Given the description of an element on the screen output the (x, y) to click on. 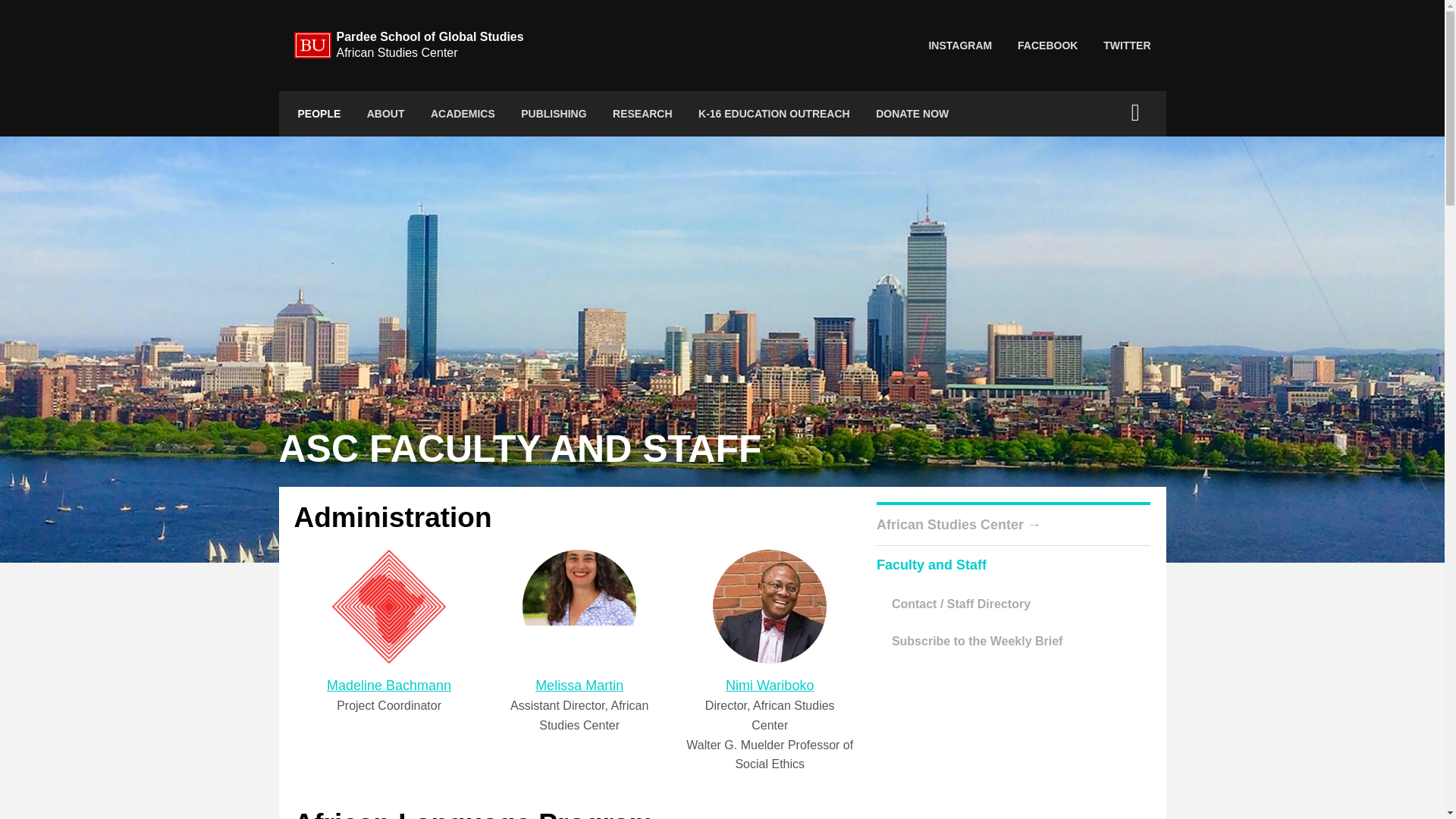
TWITTER (1126, 45)
DONATE NOW (911, 113)
INSTAGRAM (959, 45)
FACEBOOK (1047, 45)
Navigate to: Research (642, 113)
ABOUT (385, 113)
Navigate to: People (319, 113)
Navigate to: About (385, 113)
RESEARCH (642, 113)
Navigate to: Academics (462, 113)
